Given the description of an element on the screen output the (x, y) to click on. 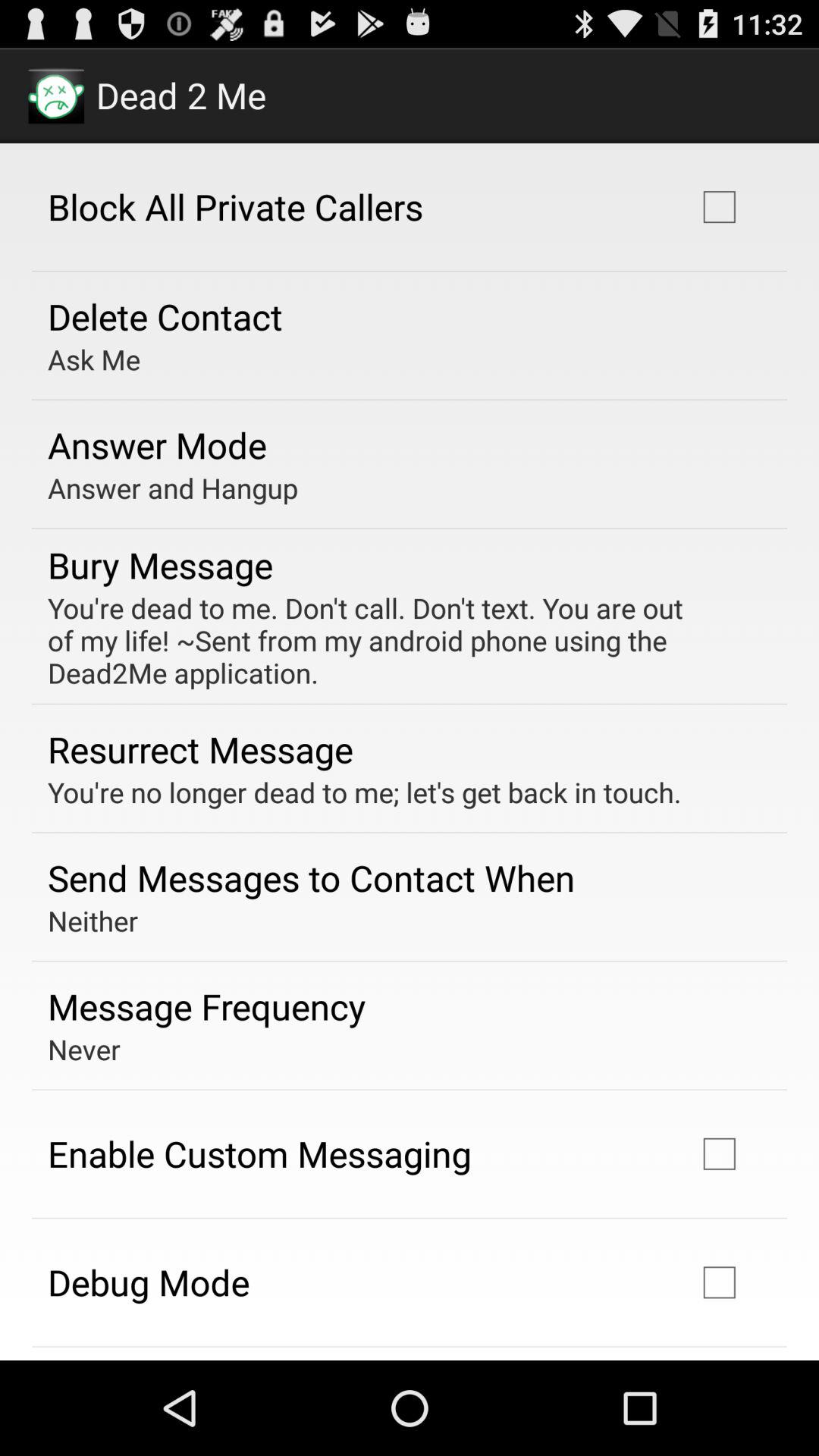
open the icon above the ask me app (164, 316)
